Given the description of an element on the screen output the (x, y) to click on. 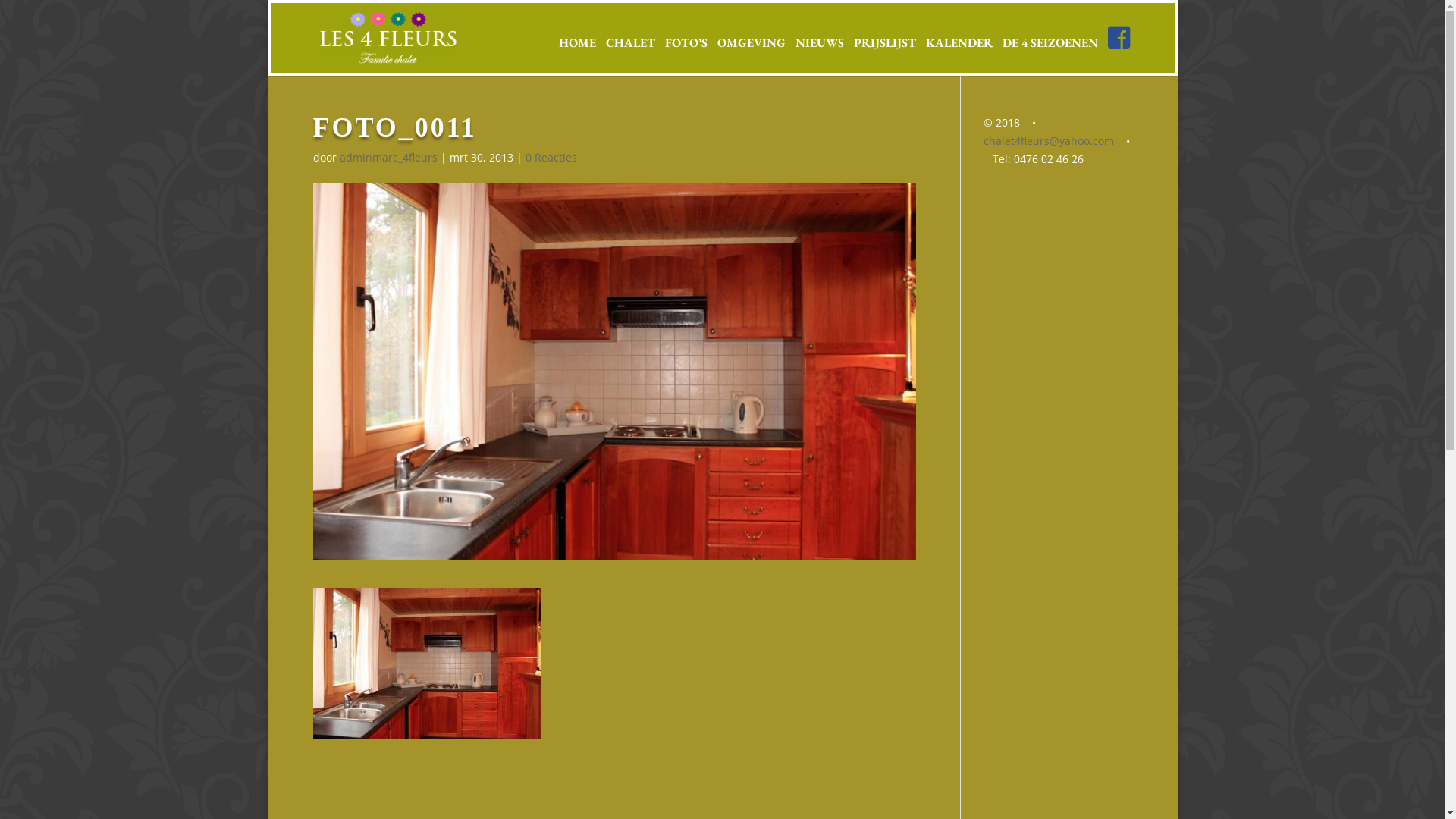
adminmarc_4fleurs Element type: text (388, 157)
NIEUWS Element type: text (819, 54)
OMGEVING Element type: text (751, 54)
HOME Element type: text (577, 54)
PRIJSLIJST Element type: text (884, 54)
chalet4fleurs@yahoo.com Element type: text (1048, 140)
0 Reacties Element type: text (550, 157)
KALENDER Element type: text (958, 54)
CHALET Element type: text (630, 54)
DE 4 SEIZOENEN Element type: text (1050, 54)
